Given the description of an element on the screen output the (x, y) to click on. 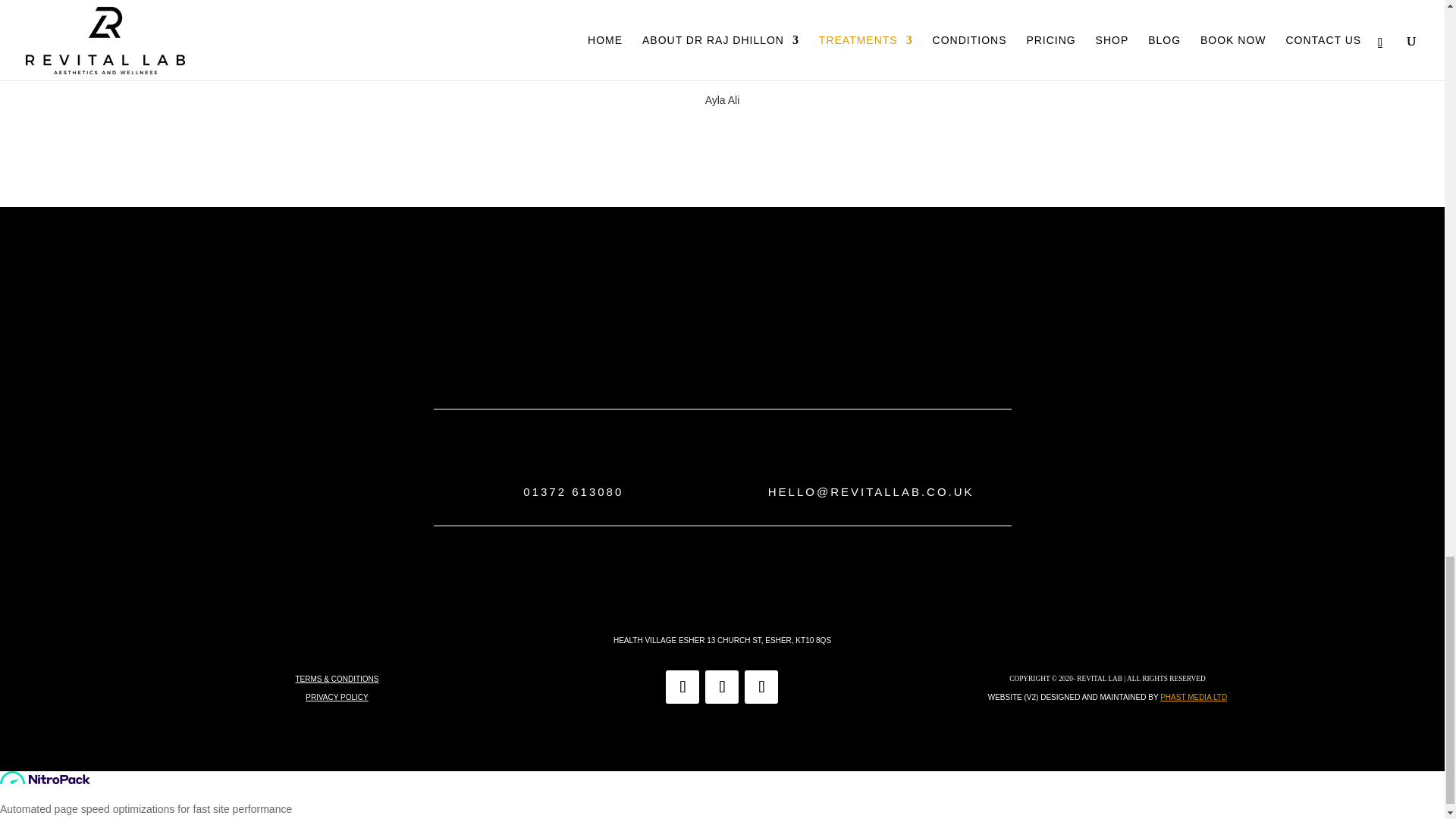
Follow on LinkedIn (721, 686)
Revital white (721, 311)
Follow on Instagram (681, 686)
Follow on Facebook (760, 686)
